Given the description of an element on the screen output the (x, y) to click on. 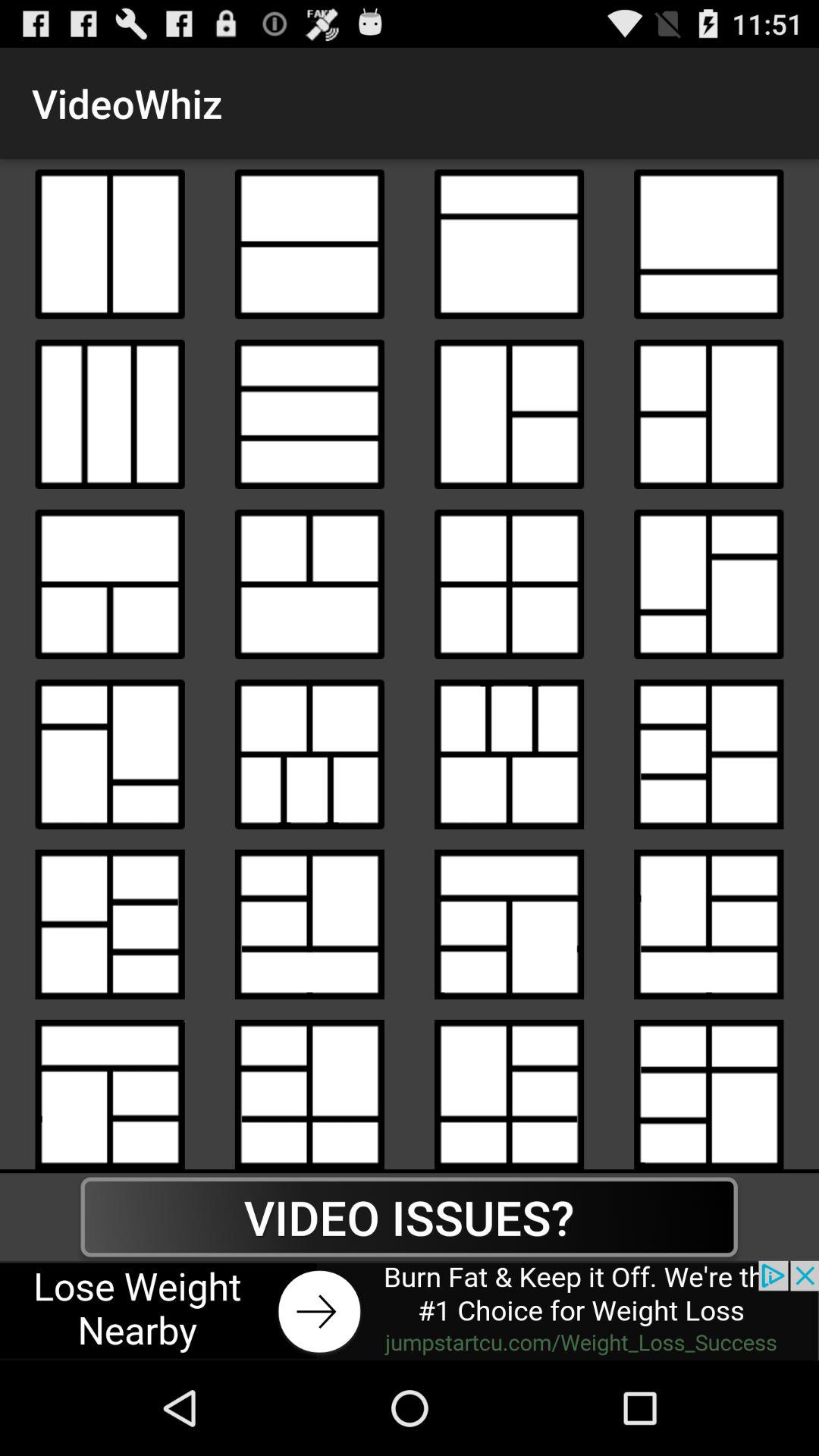
for video allignment (309, 414)
